Given the description of an element on the screen output the (x, y) to click on. 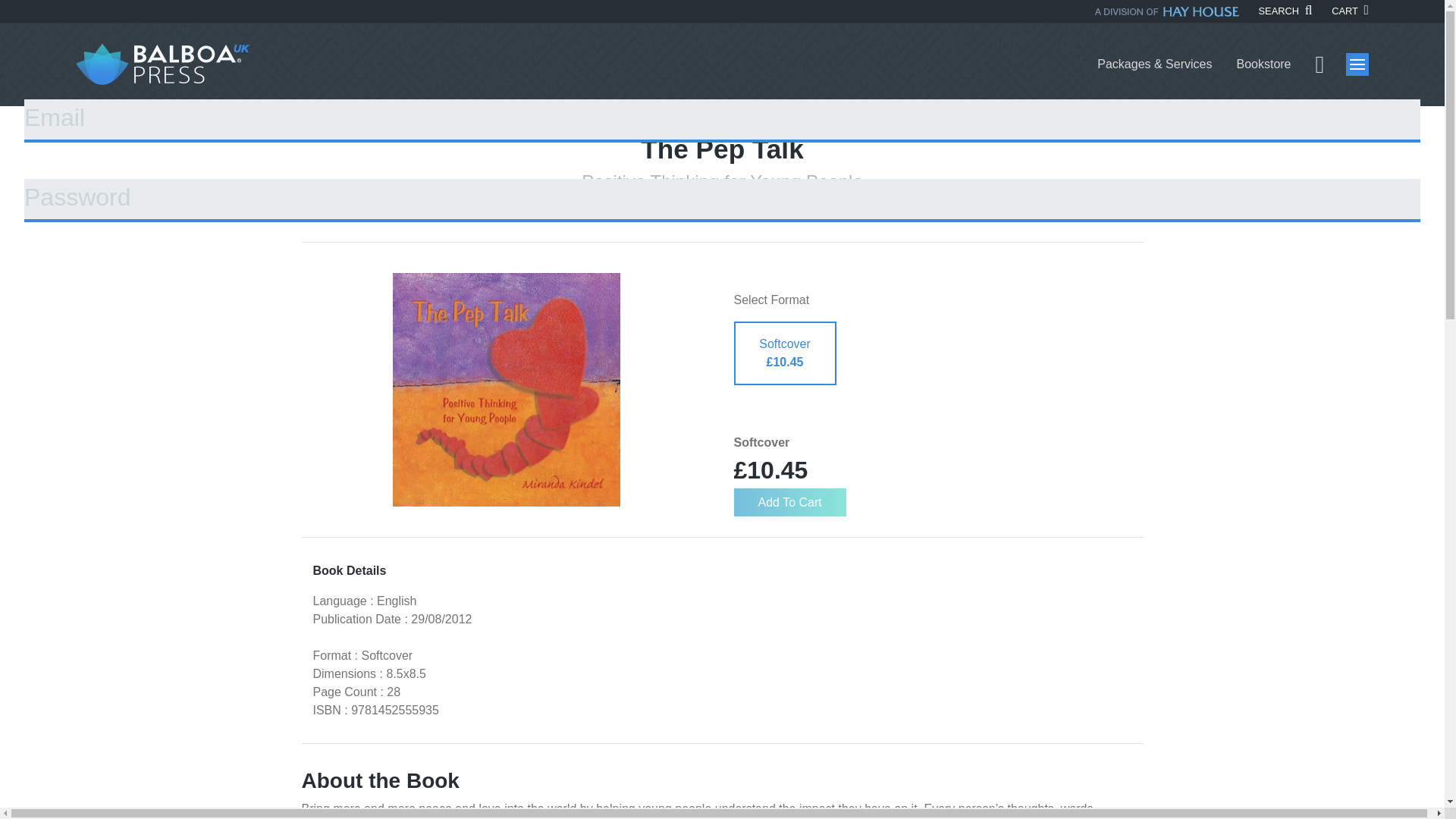
Menu (1356, 64)
SEARCH (1286, 11)
CART (1350, 11)
Bookstore (1263, 64)
Add To Cart (789, 502)
